Given the description of an element on the screen output the (x, y) to click on. 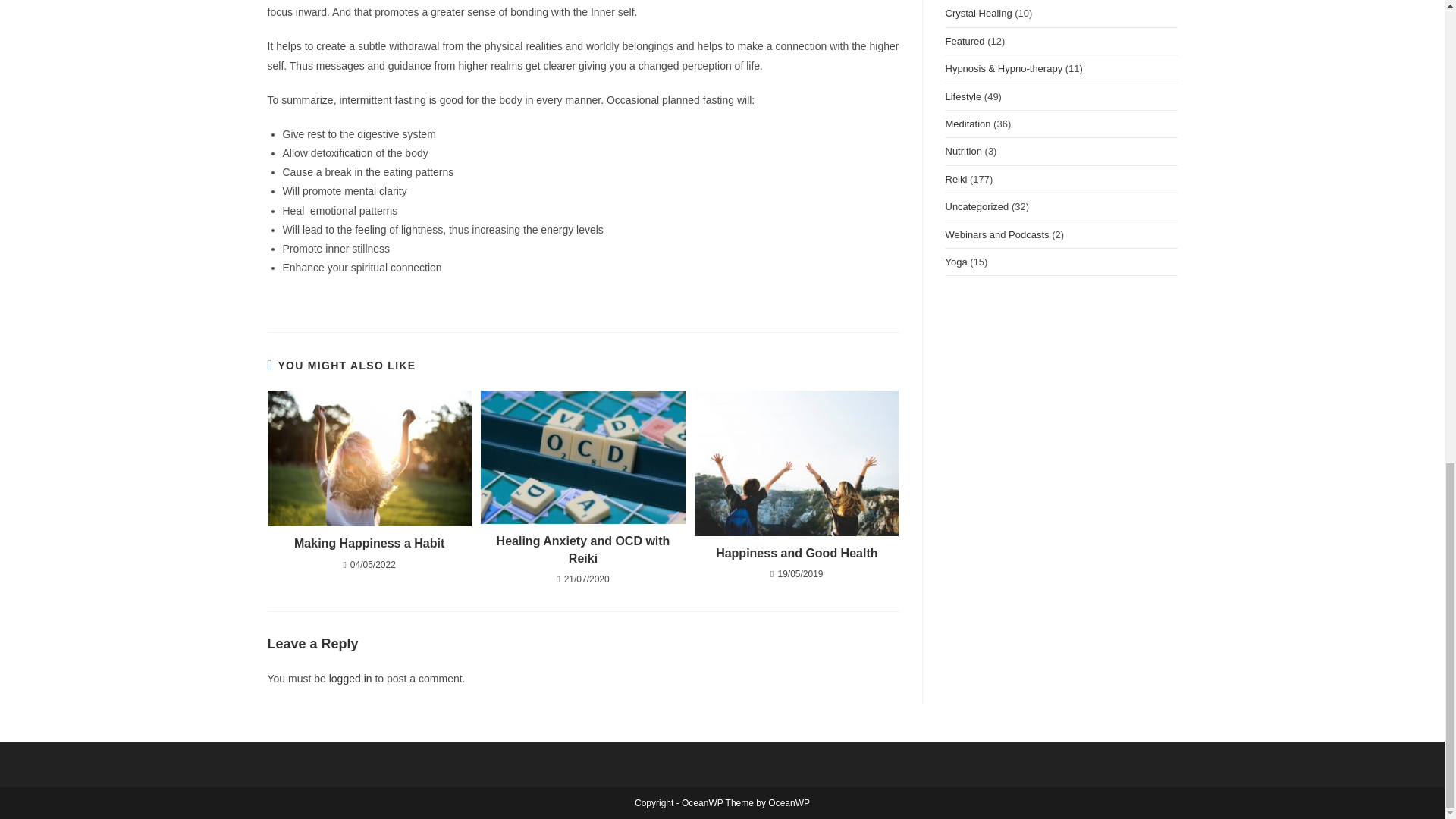
Healing Anxiety and OCD with Reiki (582, 550)
Making Happiness a Habit (368, 543)
Crystal Healing (977, 12)
Happiness and Good Health (796, 553)
logged in (350, 678)
